Given the description of an element on the screen output the (x, y) to click on. 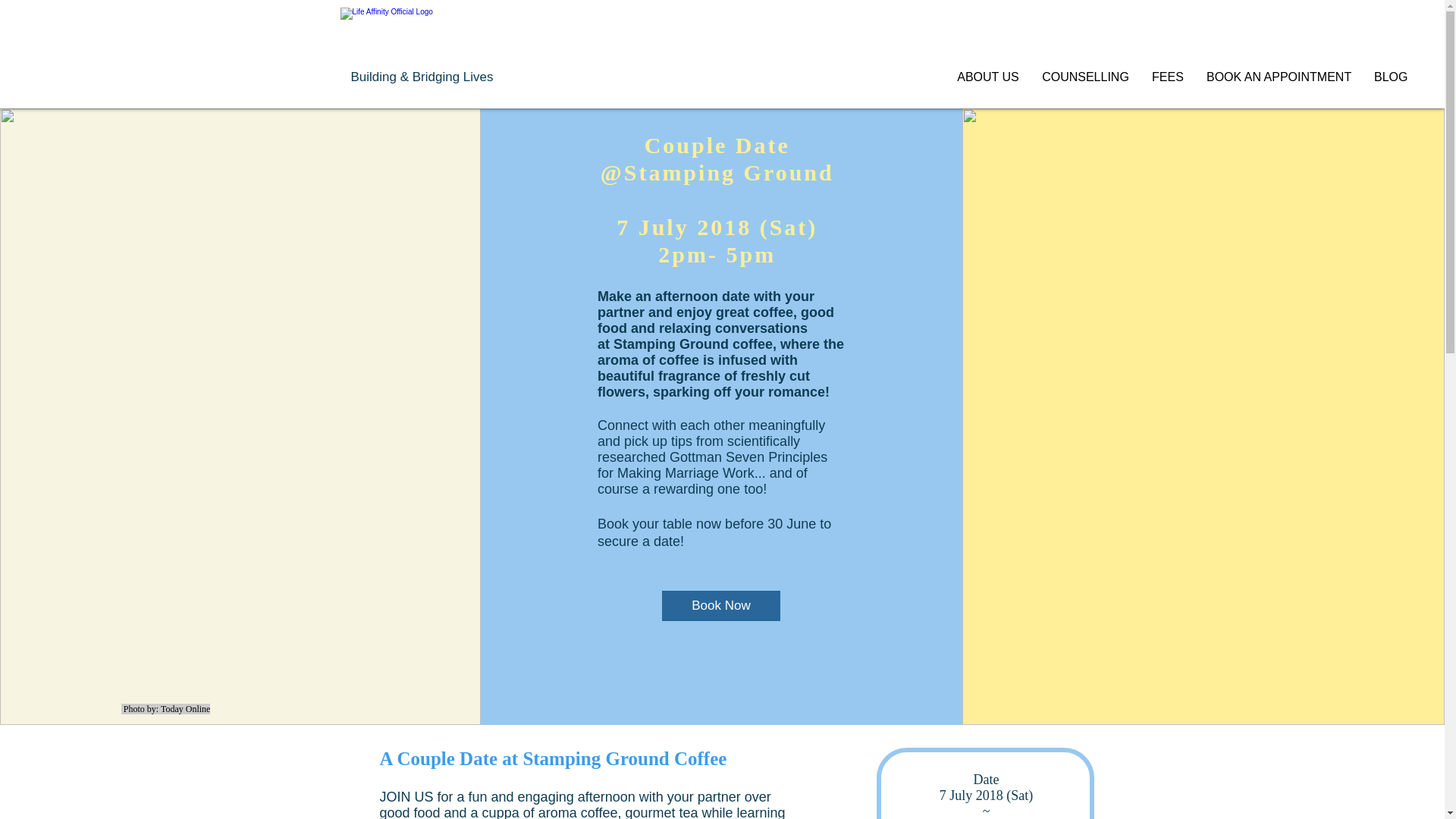
FEES (1167, 76)
BOOK AN APPOINTMENT (1278, 76)
COUNSELLING (1085, 76)
Book Now (721, 605)
ABOUT US (987, 76)
BLOG (1390, 76)
